Given the description of an element on the screen output the (x, y) to click on. 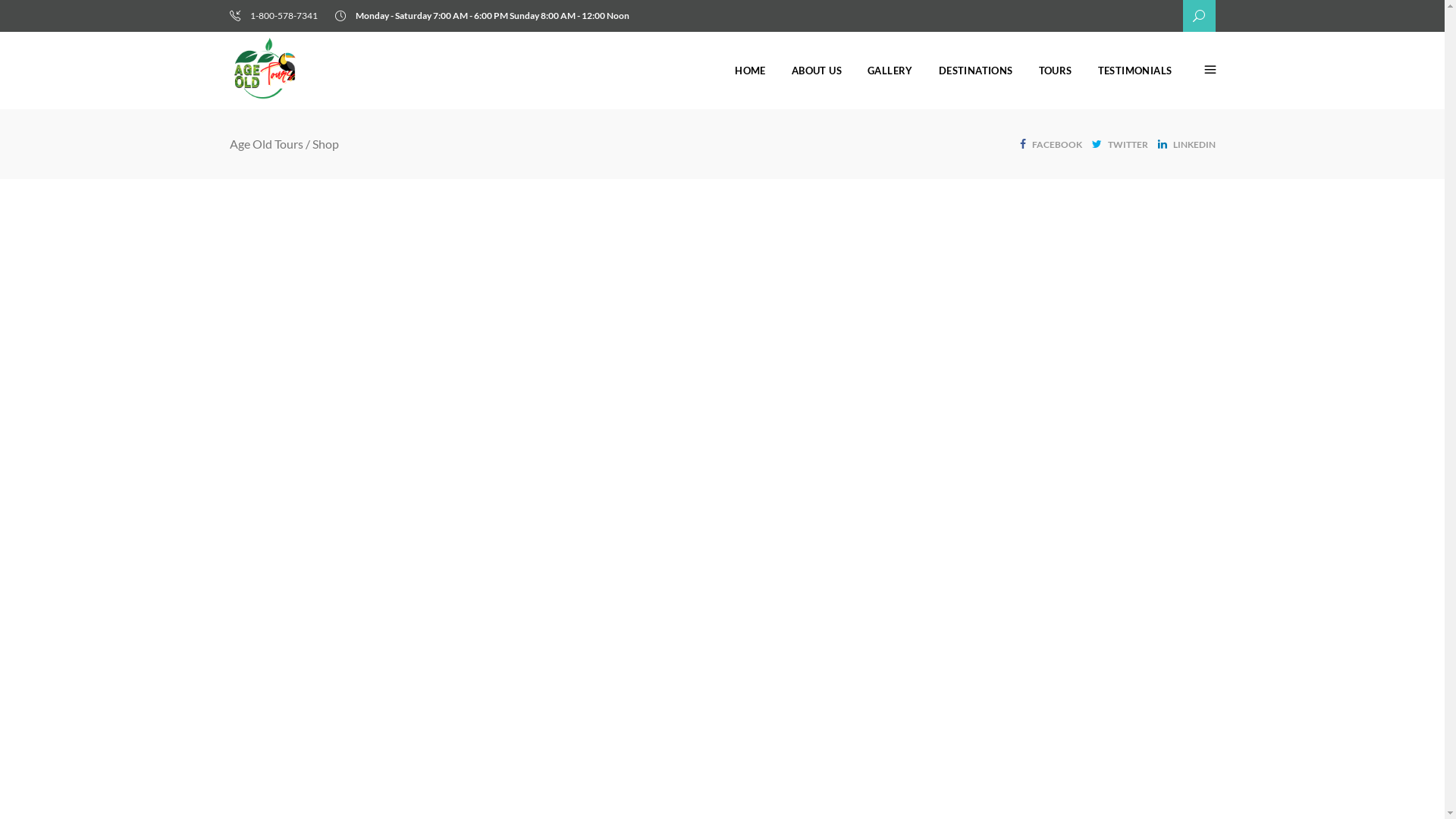
U Element type: text (1008, 402)
TWITTER Element type: text (1120, 142)
FACEBOOK Element type: text (1050, 142)
TESTIMONIALS Element type: text (1135, 70)
GALLERY Element type: text (889, 70)
Age Old Tours Element type: text (265, 143)
TOURS Element type: text (1055, 70)
ABOUT US Element type: text (816, 70)
LINKEDIN Element type: text (1185, 142)
HOME Element type: text (749, 70)
DESTINATIONS Element type: text (975, 70)
